Given the description of an element on the screen output the (x, y) to click on. 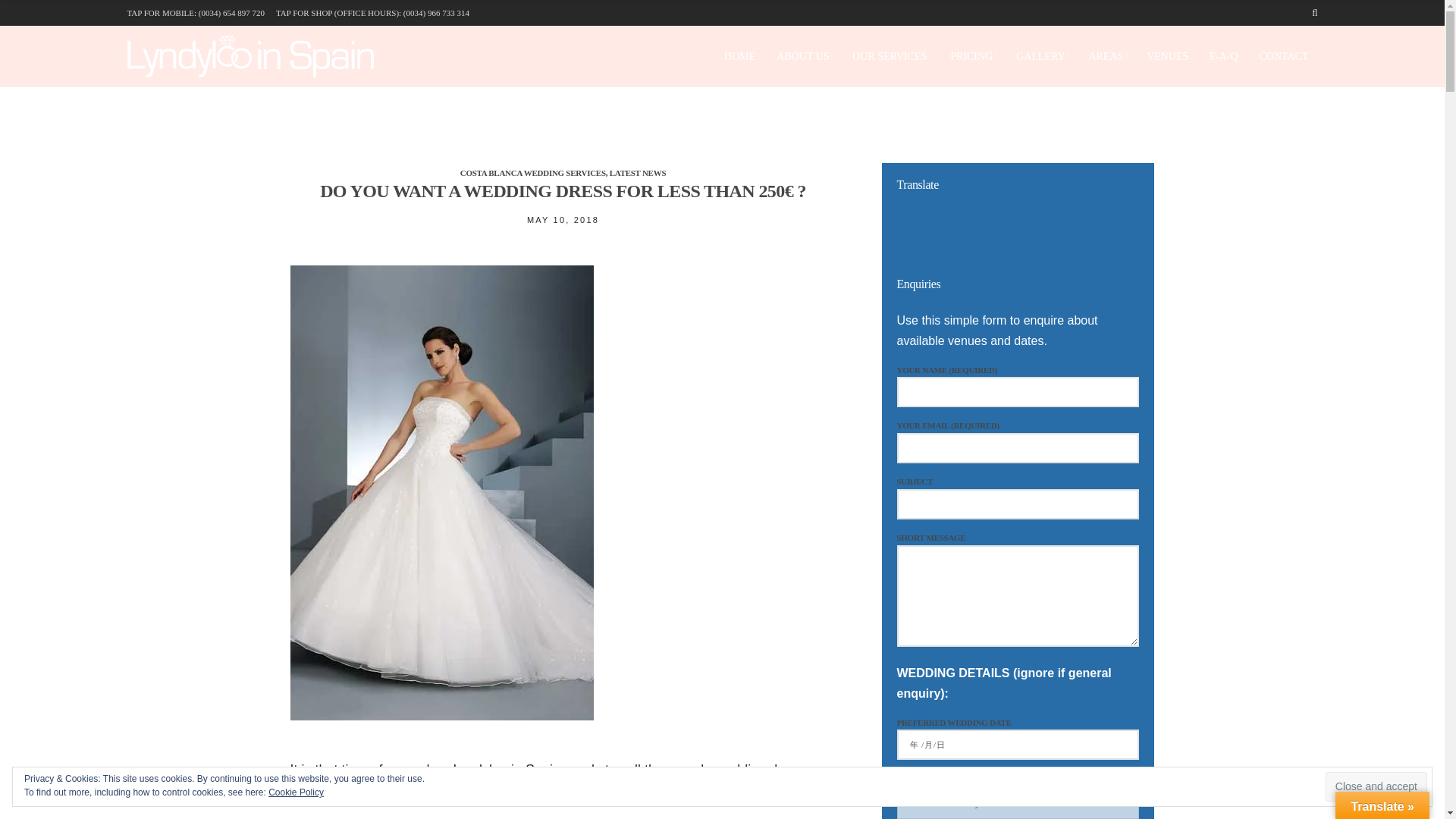
ABOUT US (803, 56)
F-A-Q (1223, 56)
COSTA BLANCA WEDDING SERVICES (532, 172)
VENUES (1167, 56)
Close and accept (1375, 786)
LATEST NEWS (638, 172)
GALLERY (1041, 56)
PRICING (972, 56)
HOME (739, 56)
OUR SERVICES (889, 56)
CONTACT (1283, 56)
AREAS (1106, 56)
